Given the description of an element on the screen output the (x, y) to click on. 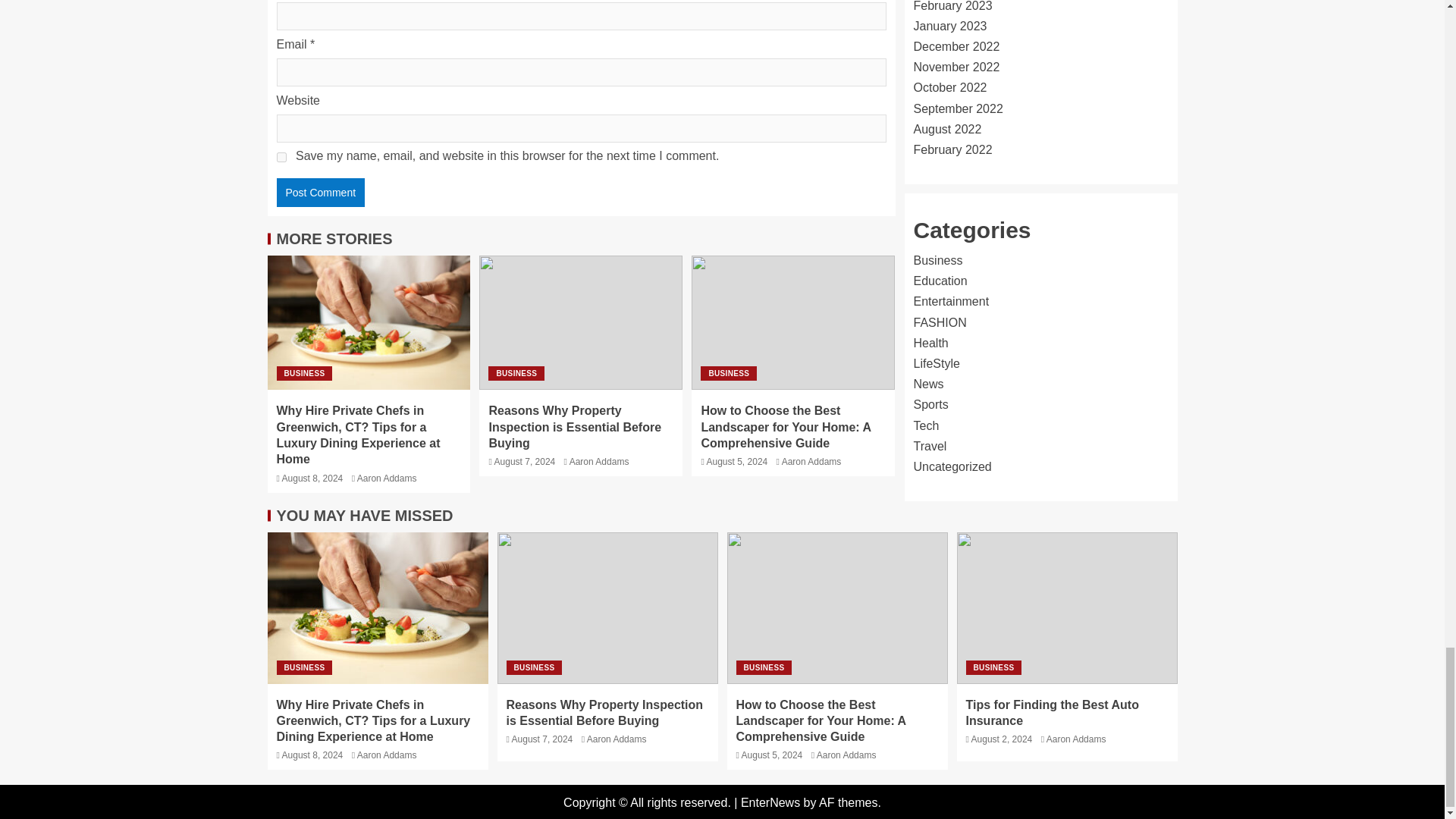
Post Comment (320, 192)
yes (280, 157)
Aaron Addams (386, 478)
BUSINESS (515, 373)
Aaron Addams (811, 461)
Post Comment (320, 192)
BUSINESS (303, 373)
Reasons Why Property Inspection is Essential Before Buying (574, 426)
